Given the description of an element on the screen output the (x, y) to click on. 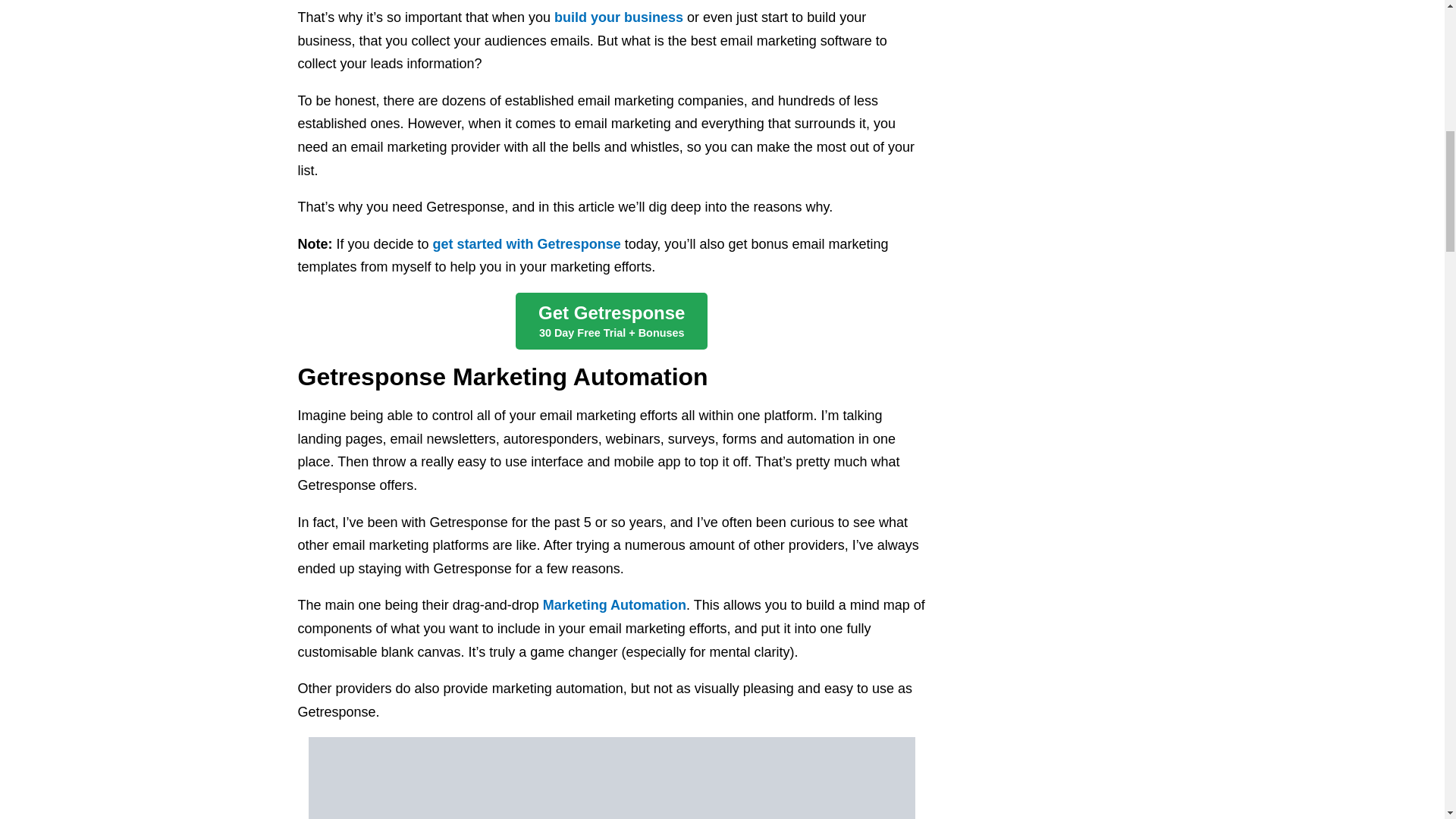
Marketing Automation (614, 604)
build your business (618, 17)
get started with Getresponse (528, 243)
